Given the description of an element on the screen output the (x, y) to click on. 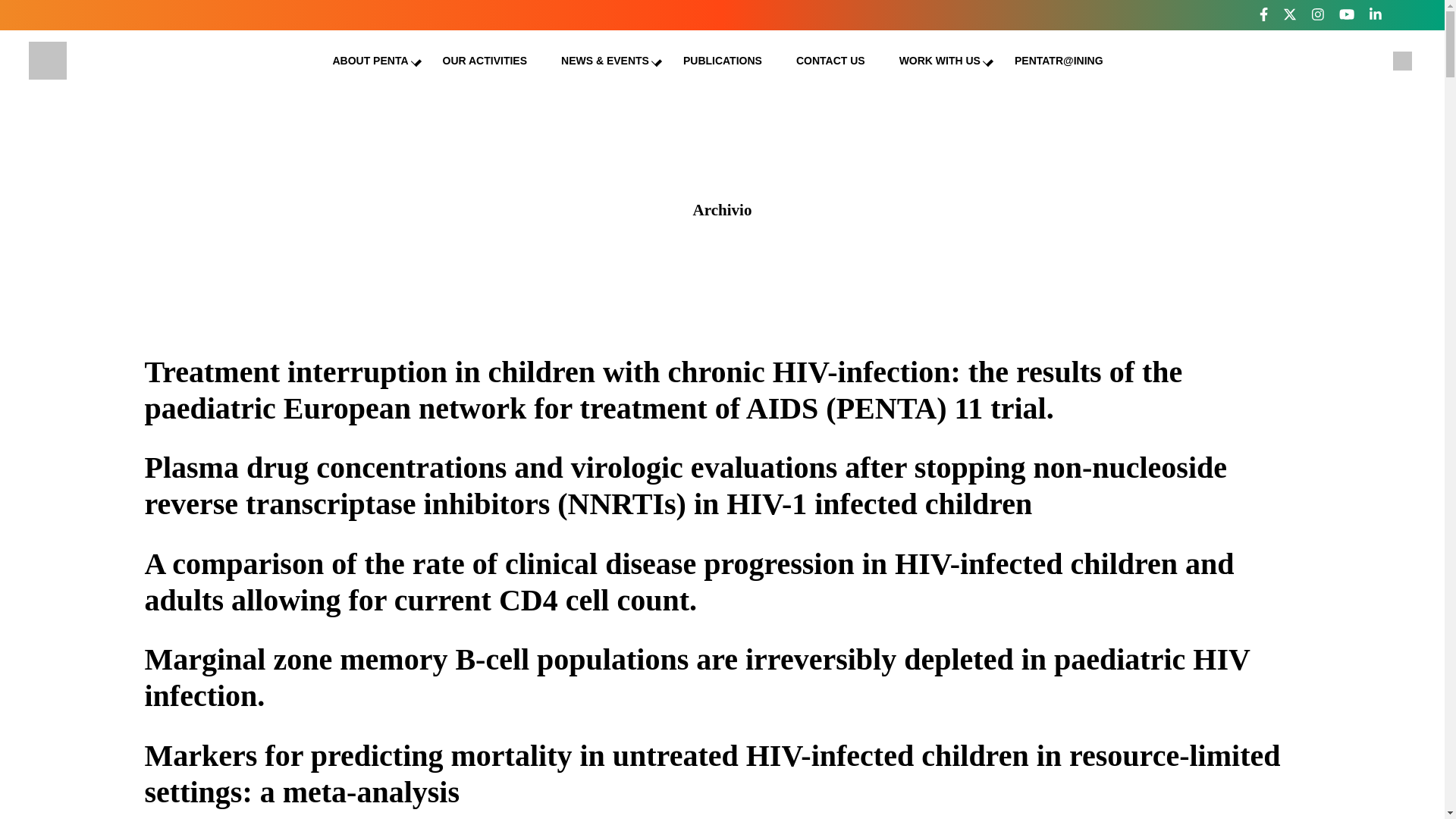
OUR ACTIVITIES (484, 60)
ABOUT PENTA (369, 60)
PUBLICATIONS (722, 60)
WORK WITH US (939, 60)
CONTACT US (830, 60)
